Given the description of an element on the screen output the (x, y) to click on. 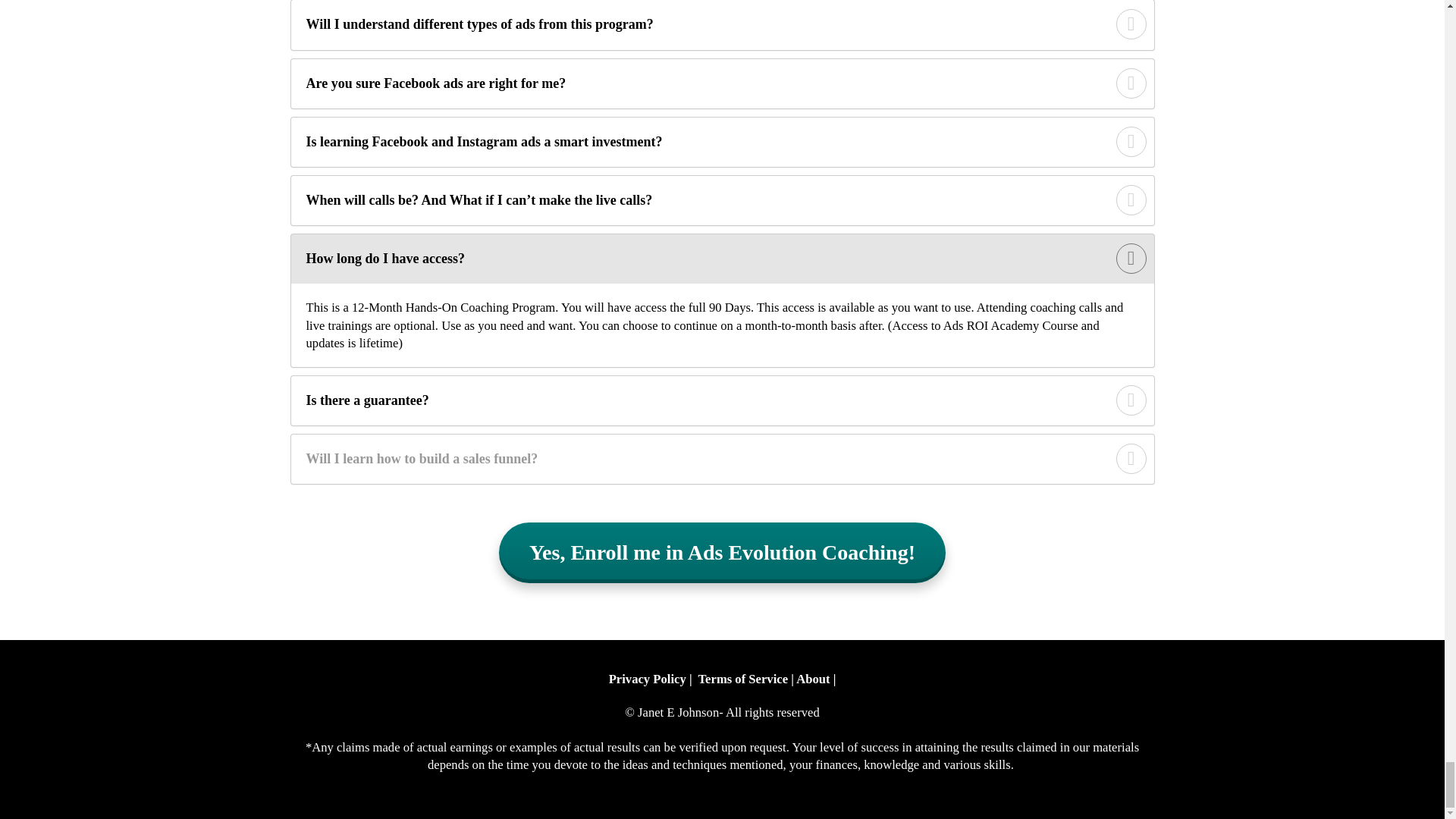
rivacy Policy (650, 678)
Yes, Enroll me in Ads Evolution Coaching! (721, 552)
Terms of Service (743, 678)
About (812, 678)
